Given the description of an element on the screen output the (x, y) to click on. 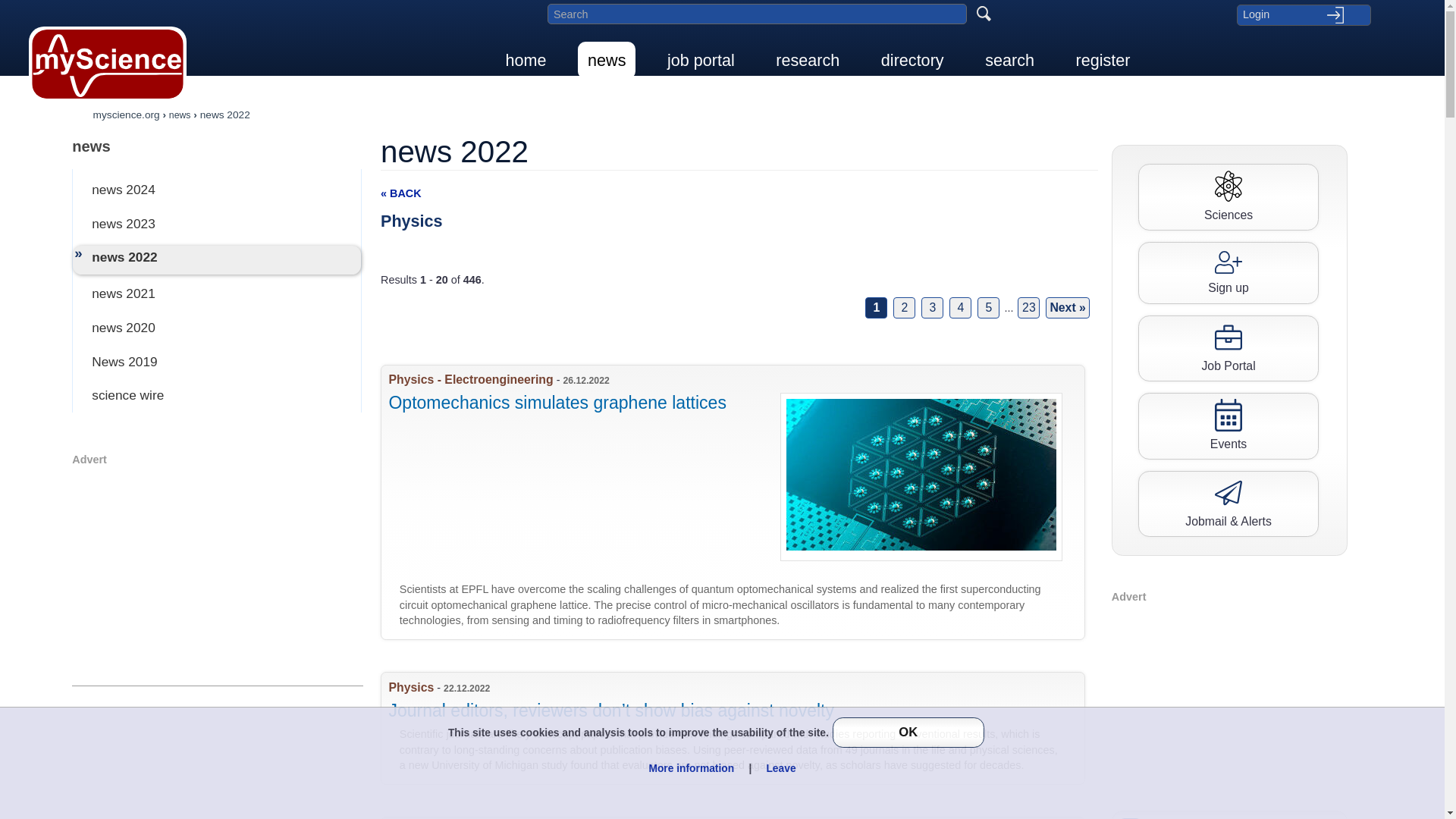
research (806, 59)
home (526, 59)
directory (911, 59)
myScience Home (107, 63)
 news  (216, 145)
news (606, 59)
Advertisement (216, 572)
Login (1303, 14)
Search in myscience.org (756, 14)
UMICH (738, 727)
job portal (701, 59)
